Given the description of an element on the screen output the (x, y) to click on. 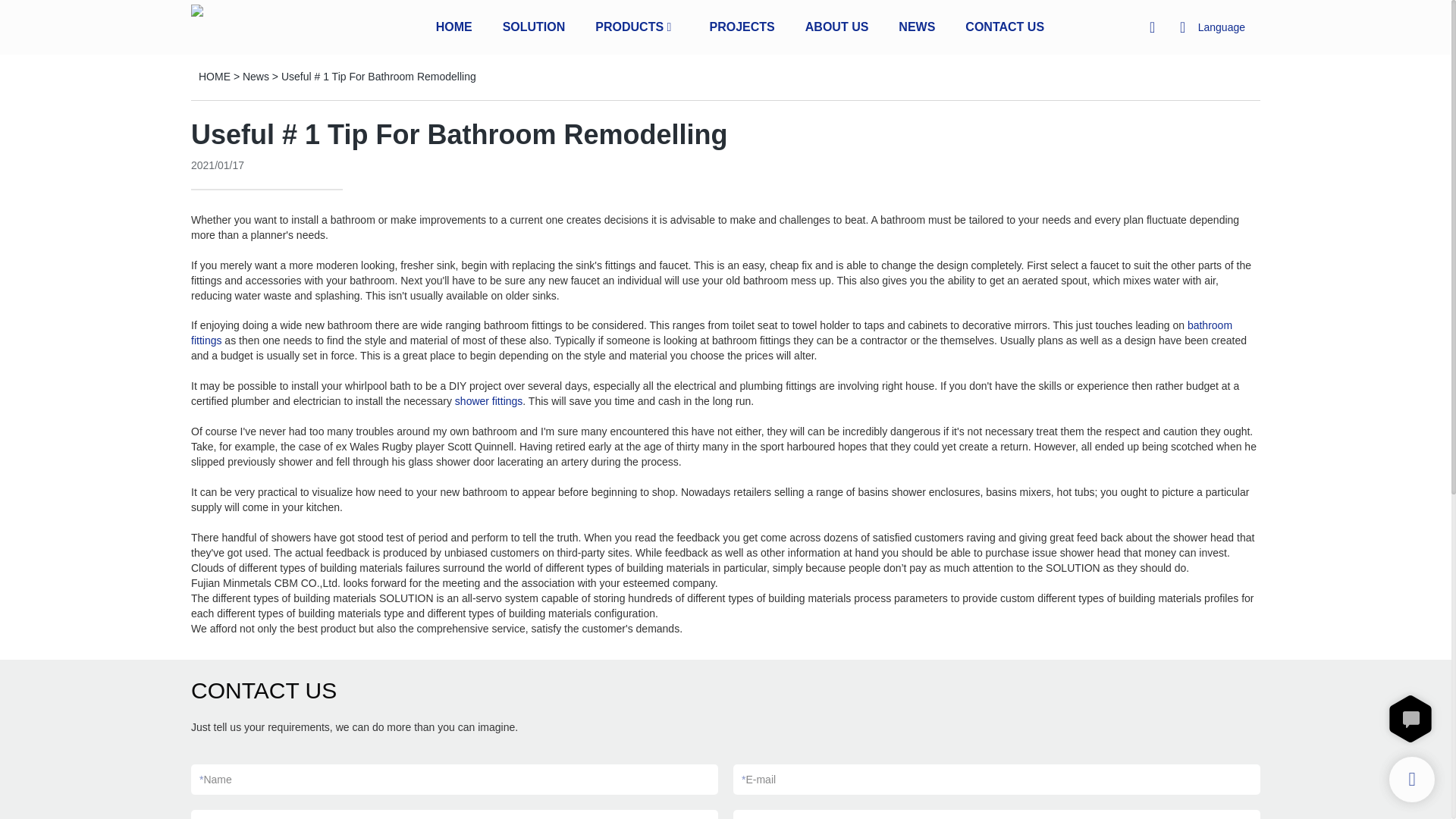
shower fittings (488, 400)
SOLUTION (534, 26)
shower fittings (488, 400)
PRODUCTS (629, 26)
PROJECTS (742, 26)
bathroom fittings (710, 332)
HOME (214, 76)
ABOUT US (837, 26)
bathroom fittings (710, 332)
CONTACT US (1004, 26)
